Given the description of an element on the screen output the (x, y) to click on. 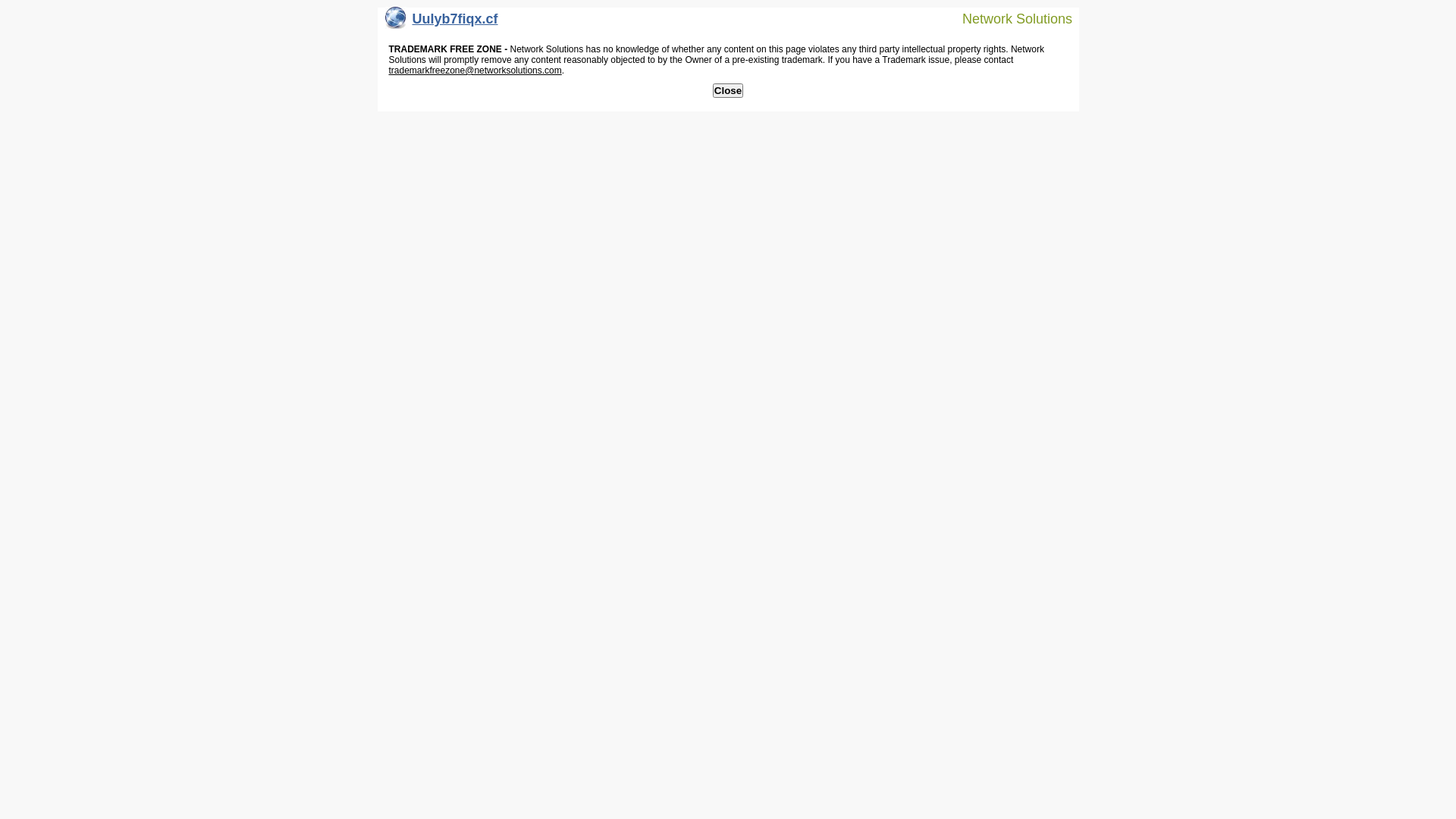
Network Solutions Element type: text (1007, 17)
Uulyb7fiqx.cf Element type: text (441, 21)
trademarkfreezone@networksolutions.com Element type: text (474, 70)
Close Element type: text (727, 90)
